Given the description of an element on the screen output the (x, y) to click on. 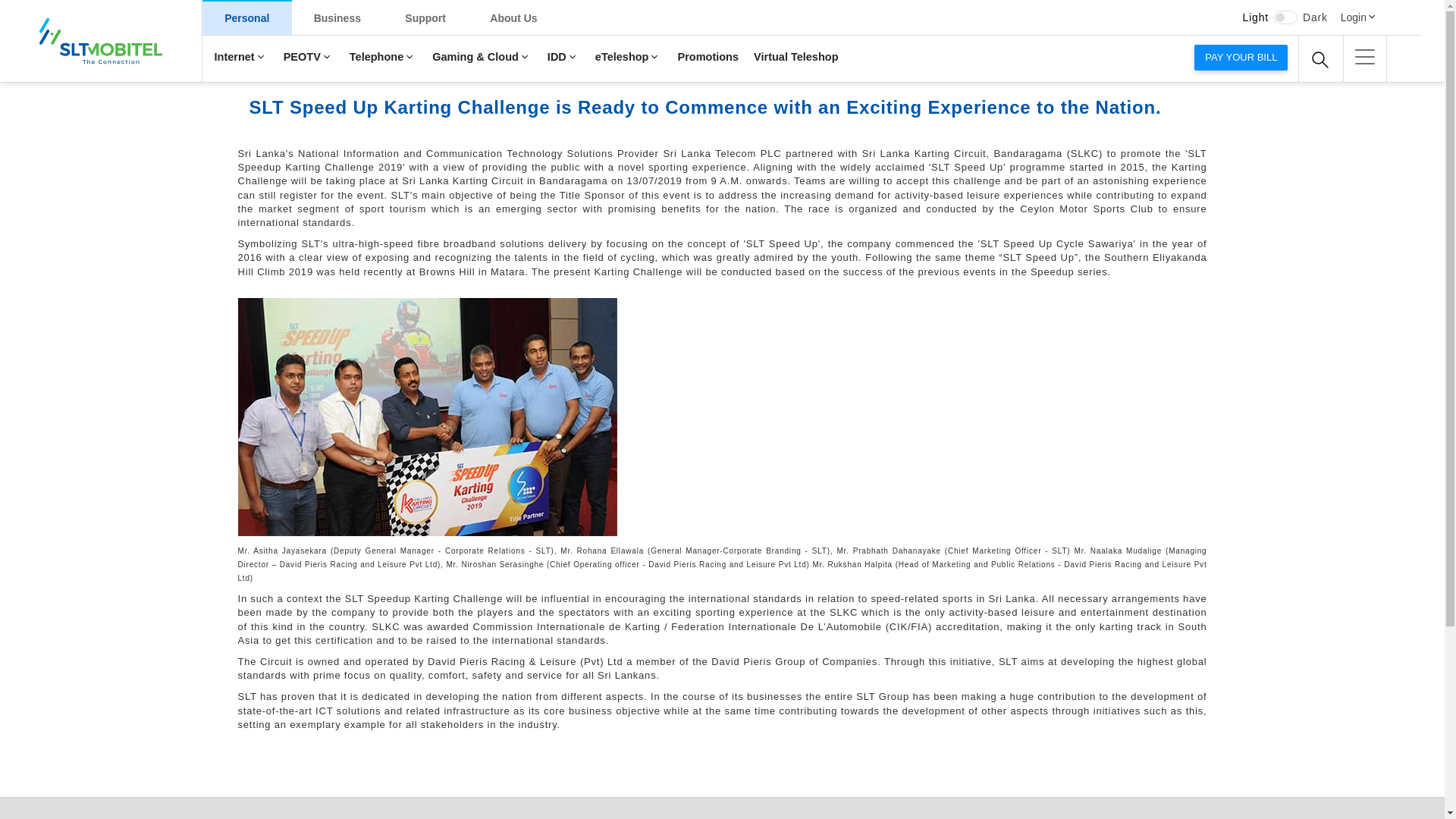
Internet (240, 57)
Personal (247, 17)
on (1284, 17)
